Given the description of an element on the screen output the (x, y) to click on. 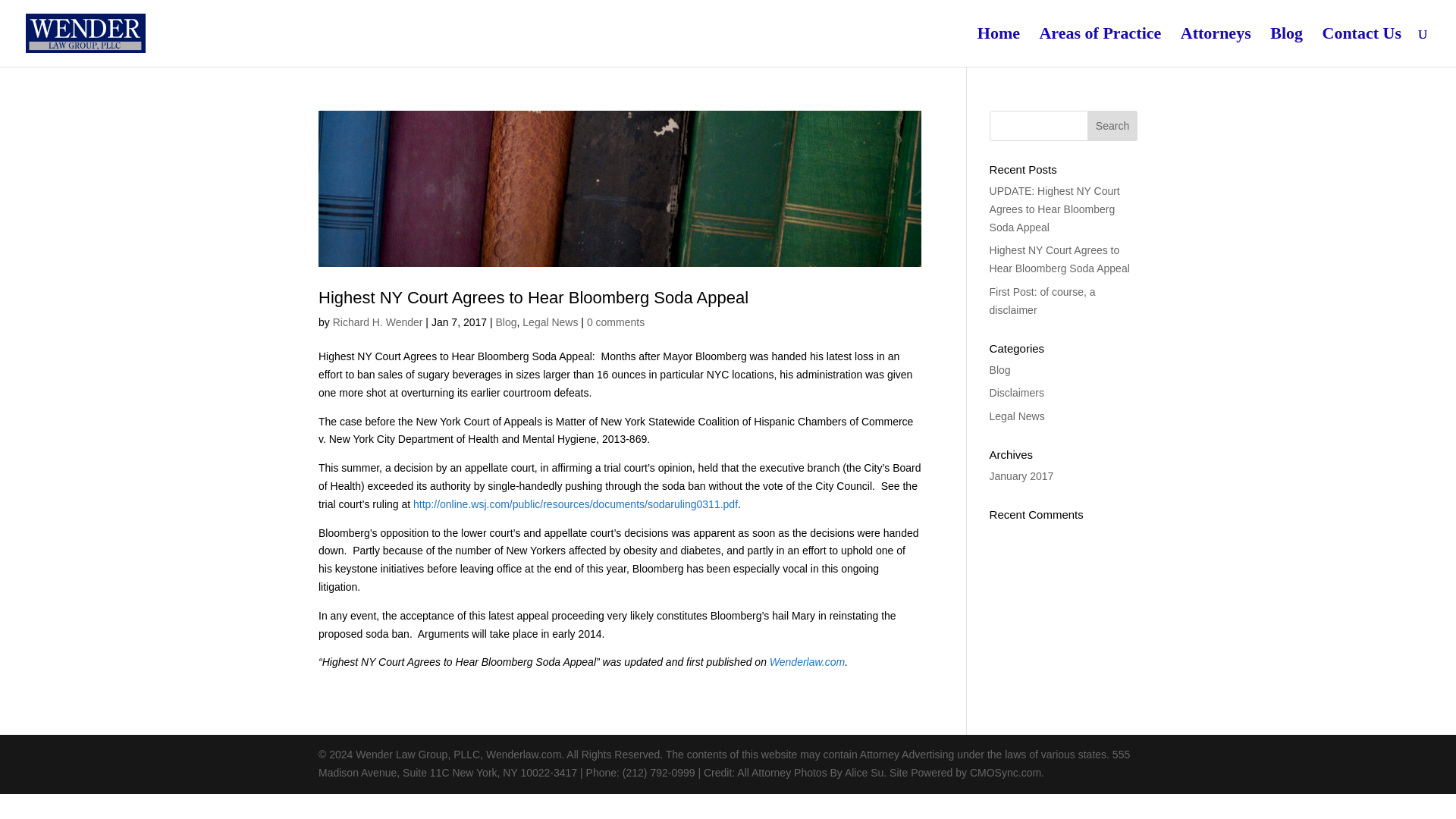
Home (998, 46)
Blog (1000, 369)
Highest NY Court Agrees to Hear Bloomberg Soda Appeal (1059, 259)
Search (1112, 125)
Contact Us (1362, 46)
Disclaimers (1016, 392)
Posts by Richard H. Wender (378, 322)
Blog (506, 322)
First Post: of course, a disclaimer (1043, 300)
Search (1112, 125)
